Given the description of an element on the screen output the (x, y) to click on. 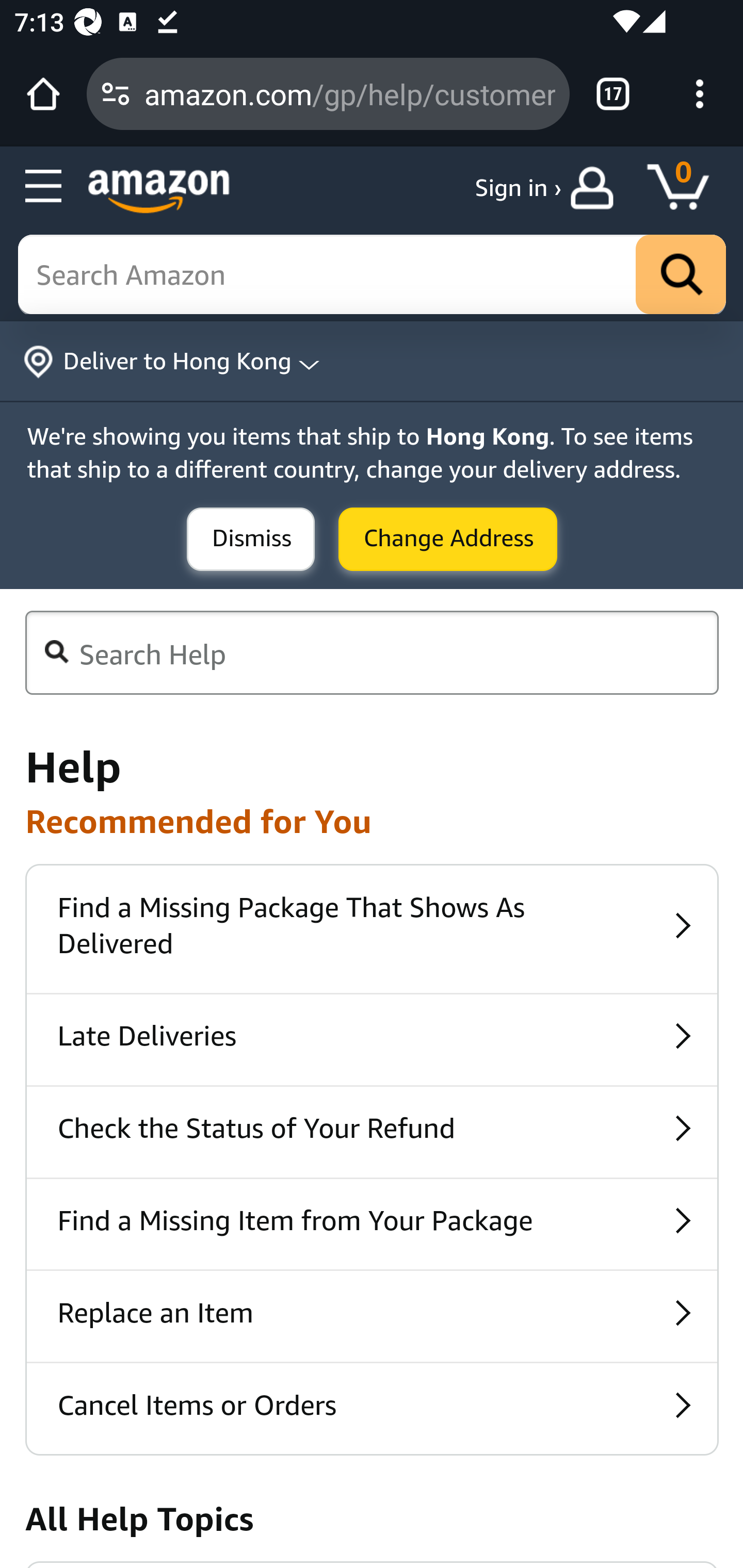
Open the home page (43, 93)
Connection is secure (115, 93)
Switch or close tabs (612, 93)
Customize and control Google Chrome (699, 93)
amazon.com/gp/help/customer/display.html (349, 92)
Open Menu (44, 187)
Sign in › (518, 188)
your account (596, 188)
Cart 0 (687, 188)
Amazon (158, 191)
Go (681, 275)
Submit (250, 539)
Submit (447, 539)
Find a Missing Package That Shows As Delivered (371, 928)
Late Deliveries (371, 1039)
Check the Status of Your Refund (371, 1132)
Find a Missing Item from Your Package (371, 1224)
Replace an Item (371, 1316)
Cancel Items or Orders (371, 1408)
